Given the description of an element on the screen output the (x, y) to click on. 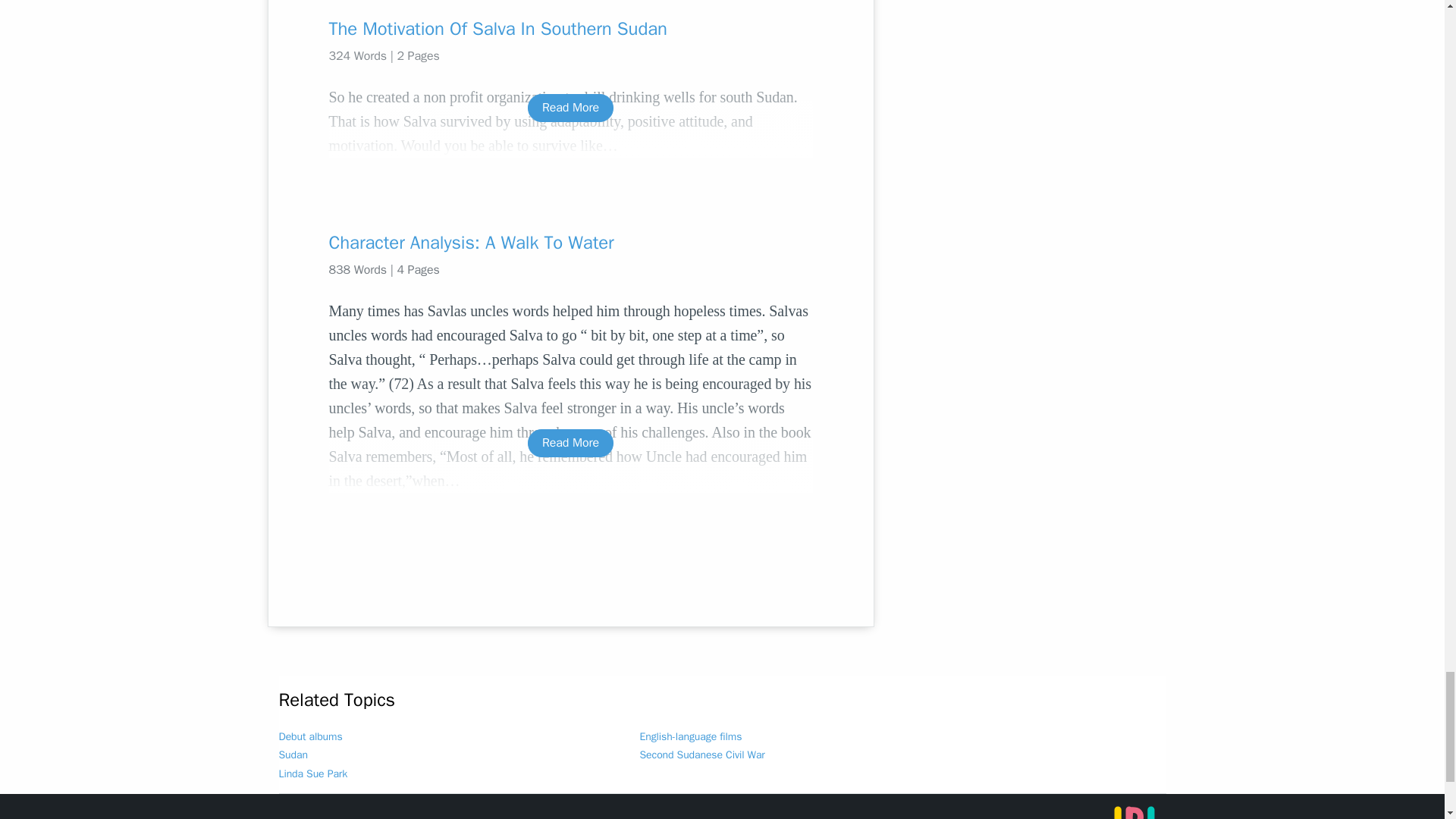
Second Sudanese Civil War (702, 754)
English-language films (691, 736)
Linda Sue Park (313, 773)
Debut albums (310, 736)
Sudan (293, 754)
